Given the description of an element on the screen output the (x, y) to click on. 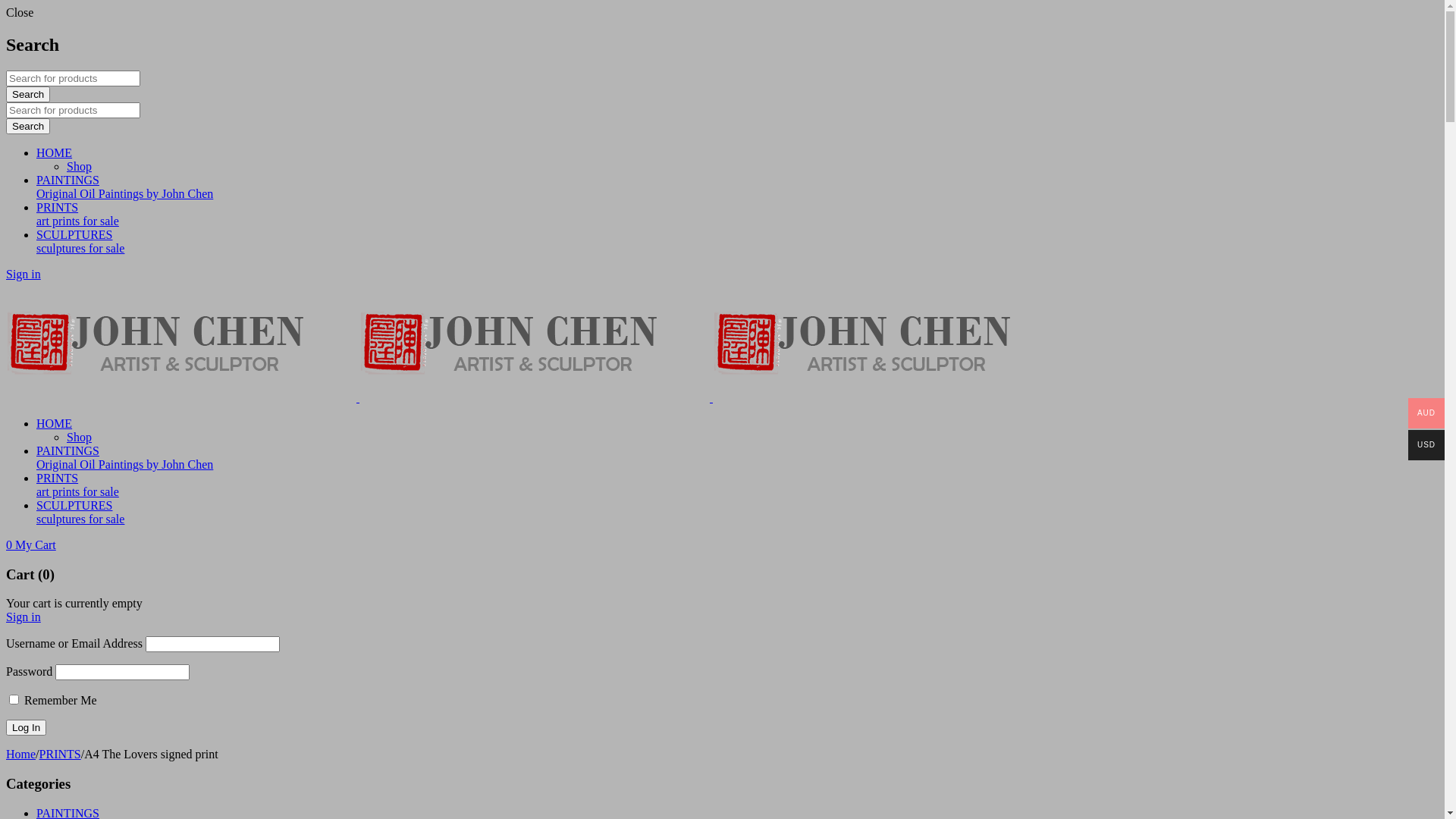
JC SCULPTURE STUDIO Element type: hover (887, 341)
Home Element type: text (20, 753)
SCULPTURES
sculptures for sale Element type: text (737, 241)
PRINTS
art prints for sale Element type: text (737, 484)
Sign in Element type: text (23, 616)
PAINTINGS
Original Oil Paintings by John Chen Element type: text (737, 457)
HOME Element type: text (54, 423)
PAINTINGS
Original Oil Paintings by John Chen Element type: text (737, 186)
Log In Element type: text (26, 727)
PRINTS
art prints for sale Element type: text (737, 214)
0 My Cart Element type: text (31, 544)
Search Element type: text (28, 126)
PRINTS Element type: text (60, 753)
Shop Element type: text (78, 166)
JC SCULPTURE STUDIO Element type: hover (534, 341)
Shop Element type: text (78, 436)
HOME Element type: text (54, 152)
Sign in Element type: text (23, 273)
SCULPTURES
sculptures for sale Element type: text (737, 512)
Search Element type: text (28, 94)
JC SCULPTURE STUDIO Element type: hover (181, 341)
